Given the description of an element on the screen output the (x, y) to click on. 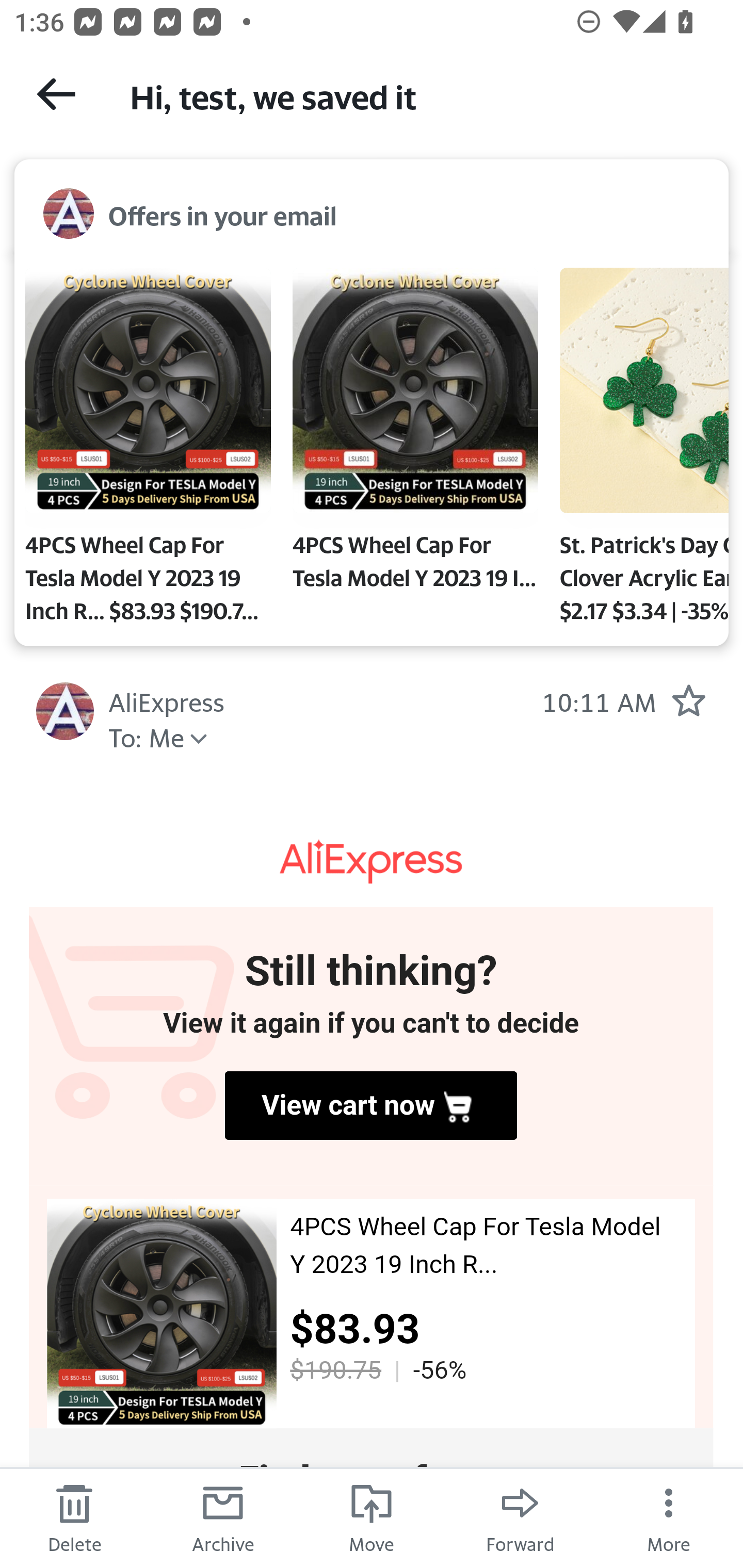
Back (55, 93)
Hi, test, we saved it (418, 94)
4PCS Wheel Cap For Tesla Model Y 2023 19 Inch R... (415, 433)
Profile (64, 711)
AliExpress Sender AliExpress (166, 700)
Mark as starred. (688, 700)
AliExpress (371, 861)
View cart now 收藏 View cart now 收藏 (370, 1104)
Delete (74, 1517)
Archive (222, 1517)
Move (371, 1517)
Forward (519, 1517)
More (668, 1517)
